Given the description of an element on the screen output the (x, y) to click on. 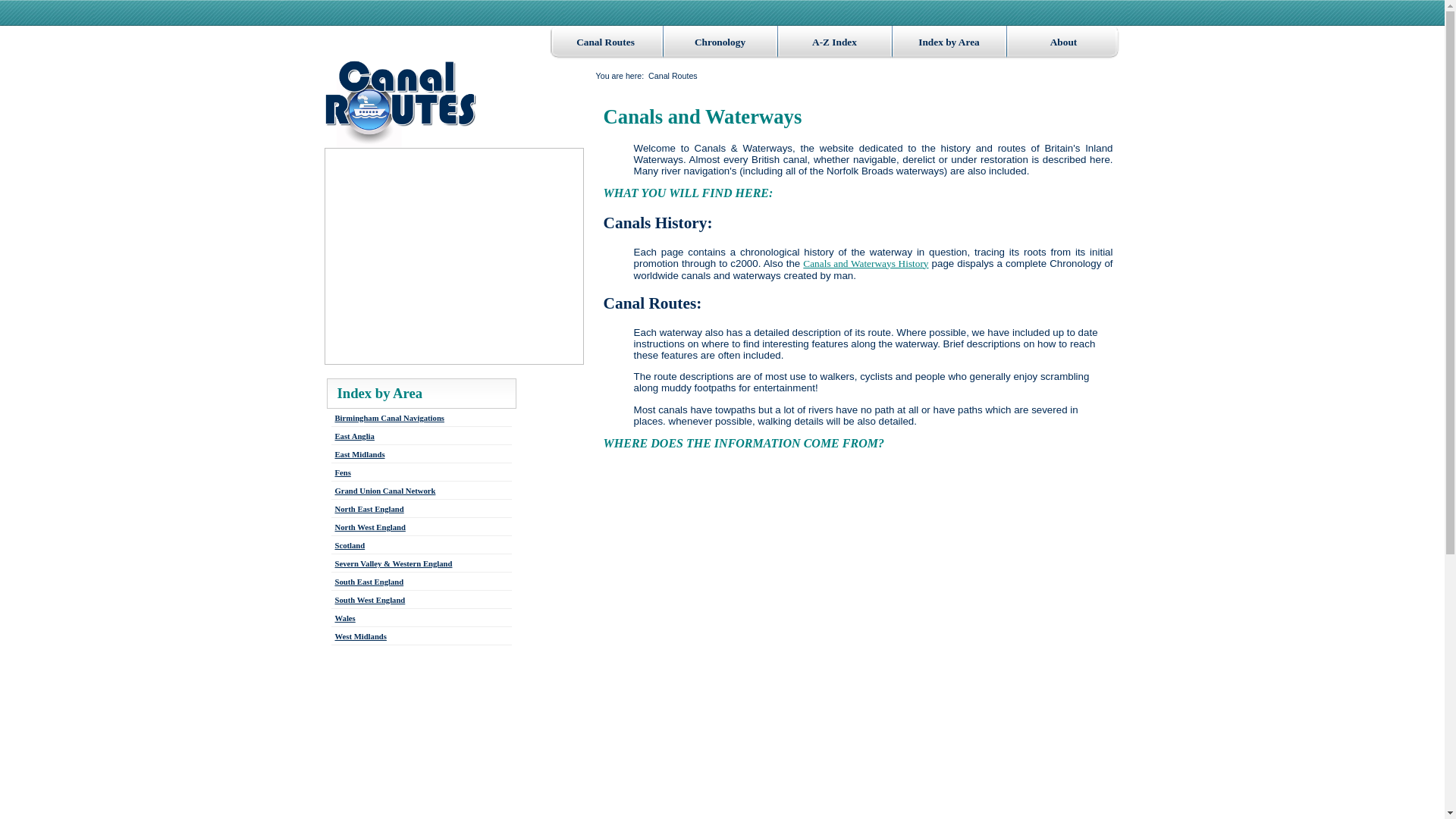
Advertisement (731, 745)
Chronology (719, 42)
South West England (370, 600)
Birmingham Canal Navigations (389, 418)
Fens (342, 472)
South East England (369, 582)
East Anglia (354, 436)
Canal Routes (605, 42)
Canals and Waterways History (865, 263)
West Midlands (360, 636)
Index by Area (379, 392)
North West England (370, 527)
Canal Routes Home (400, 103)
Grand Union Canal Network (384, 490)
